Given the description of an element on the screen output the (x, y) to click on. 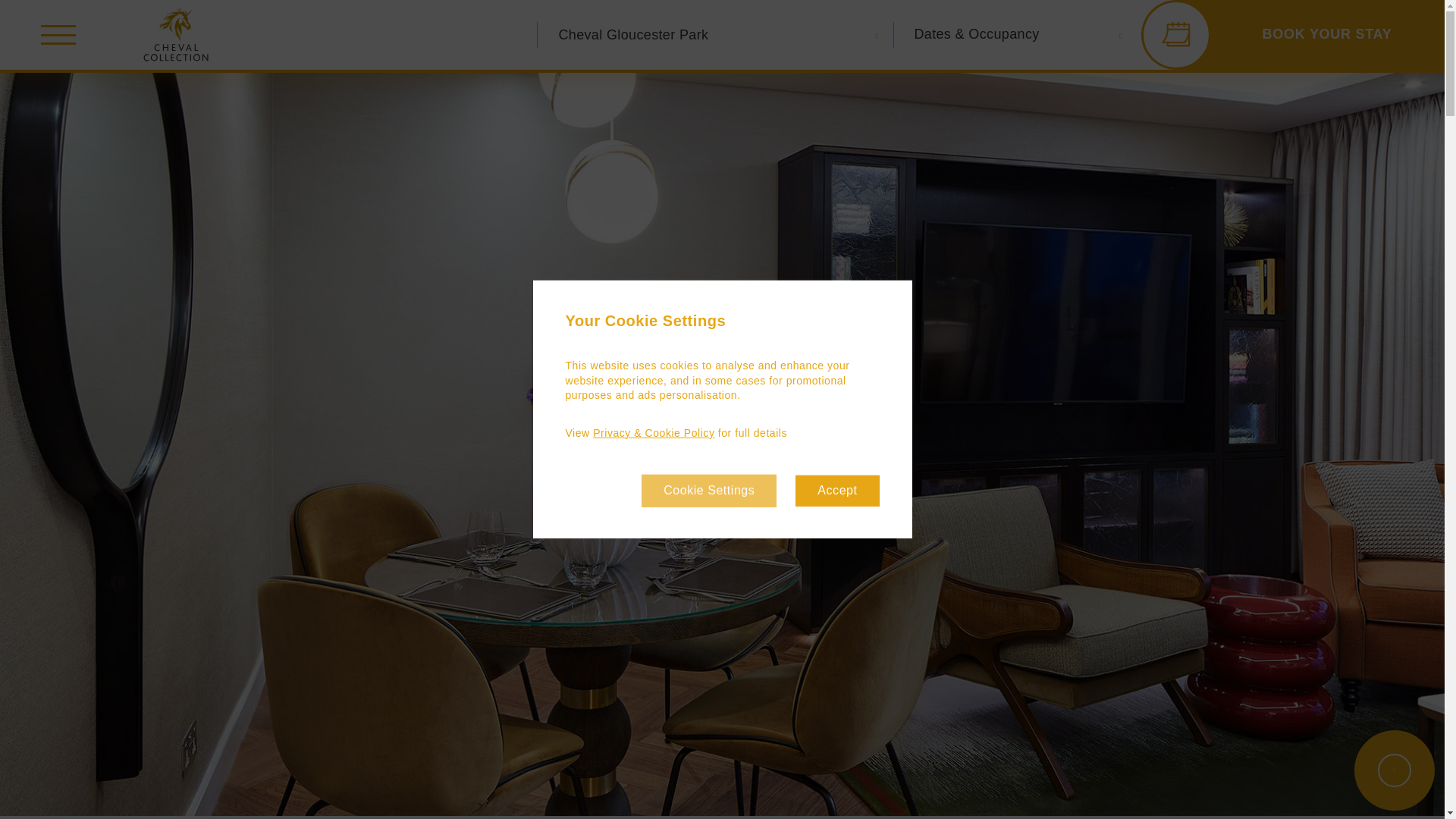
Accept (836, 490)
See More (1394, 770)
Cheval Gloucester Park (708, 34)
Cheval Gloucester Park (708, 34)
Cookie Settings (709, 490)
